Given the description of an element on the screen output the (x, y) to click on. 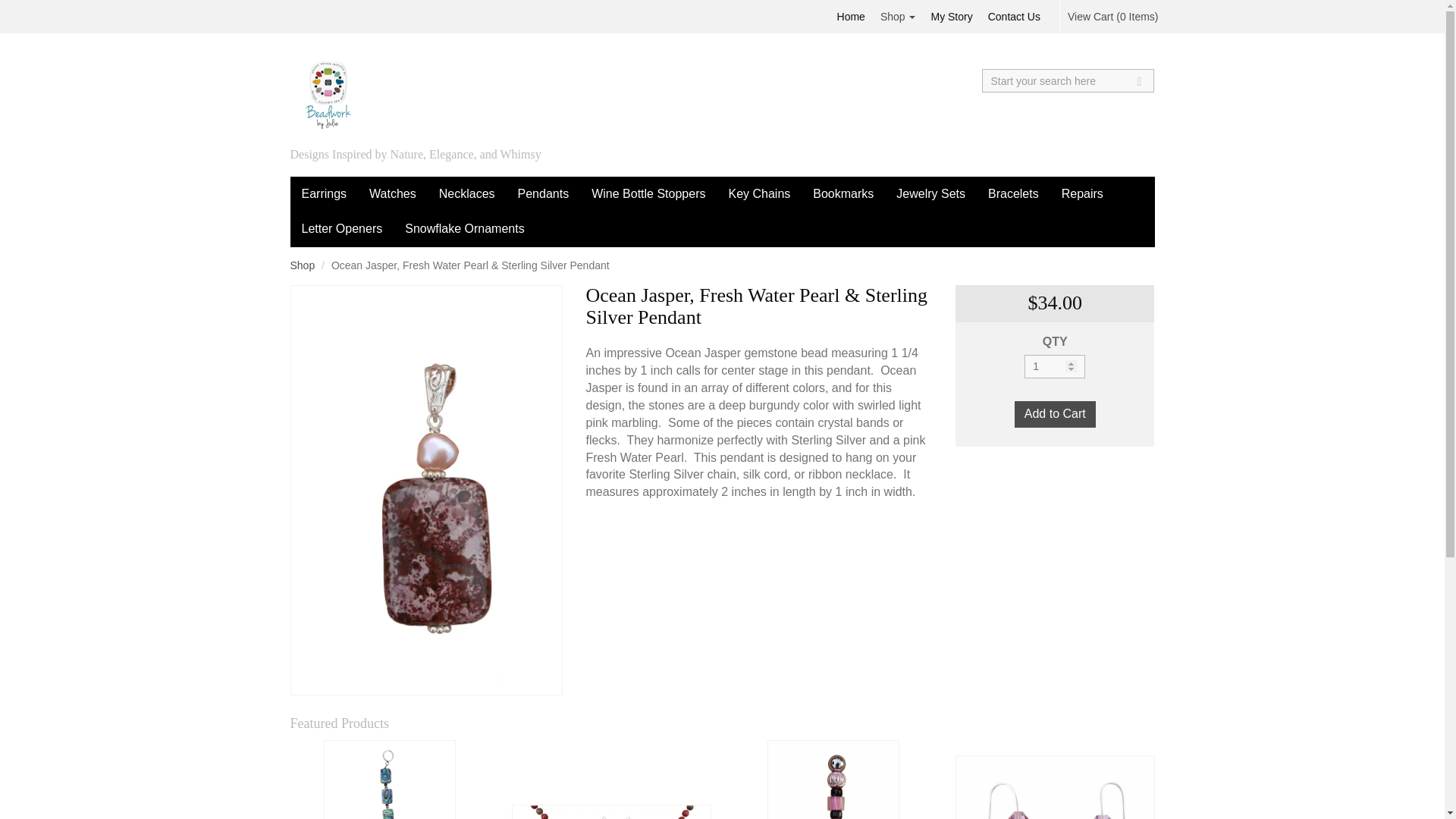
Contact Us (1013, 16)
Shop (301, 265)
Watches (393, 194)
Shop (897, 16)
Earrings (323, 194)
Pendants (543, 194)
Key Chains (759, 194)
Necklaces (467, 194)
My Story (951, 16)
Bracelets (1012, 194)
